Given the description of an element on the screen output the (x, y) to click on. 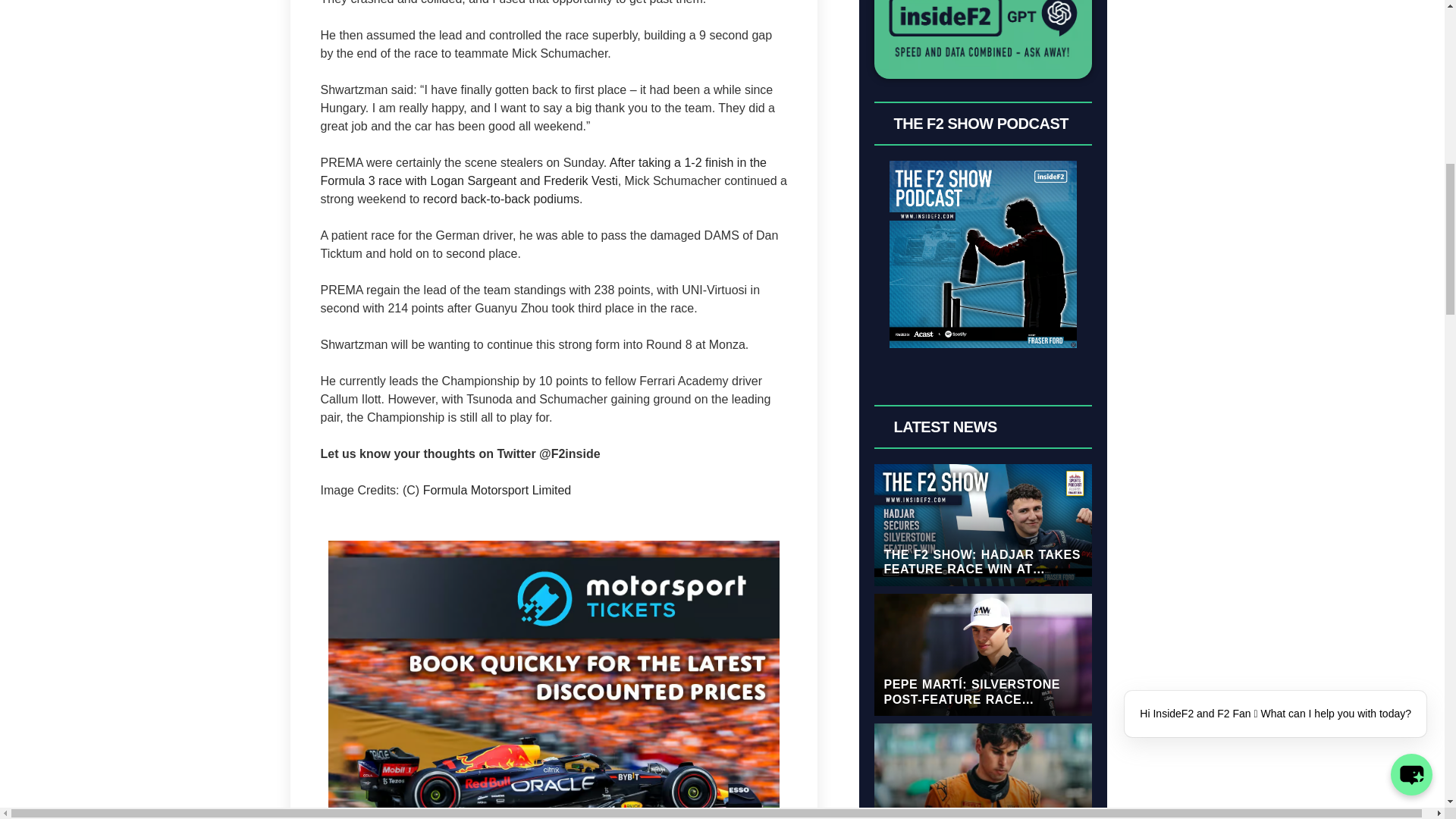
record back-to-back podiums (501, 198)
Formula Motorsport Limited (497, 490)
